Given the description of an element on the screen output the (x, y) to click on. 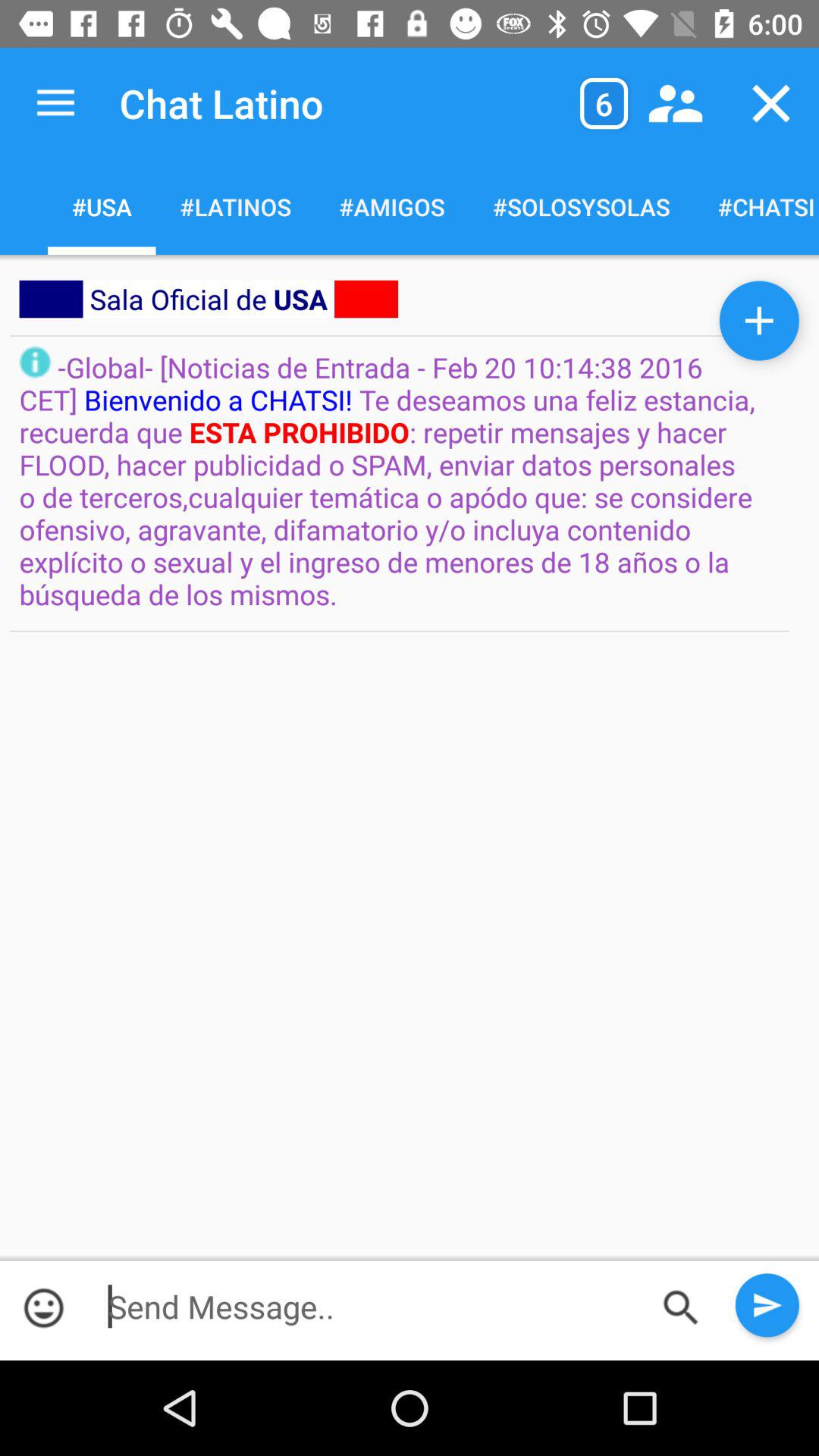
turn off the item above the #solosysolas icon (675, 103)
